Given the description of an element on the screen output the (x, y) to click on. 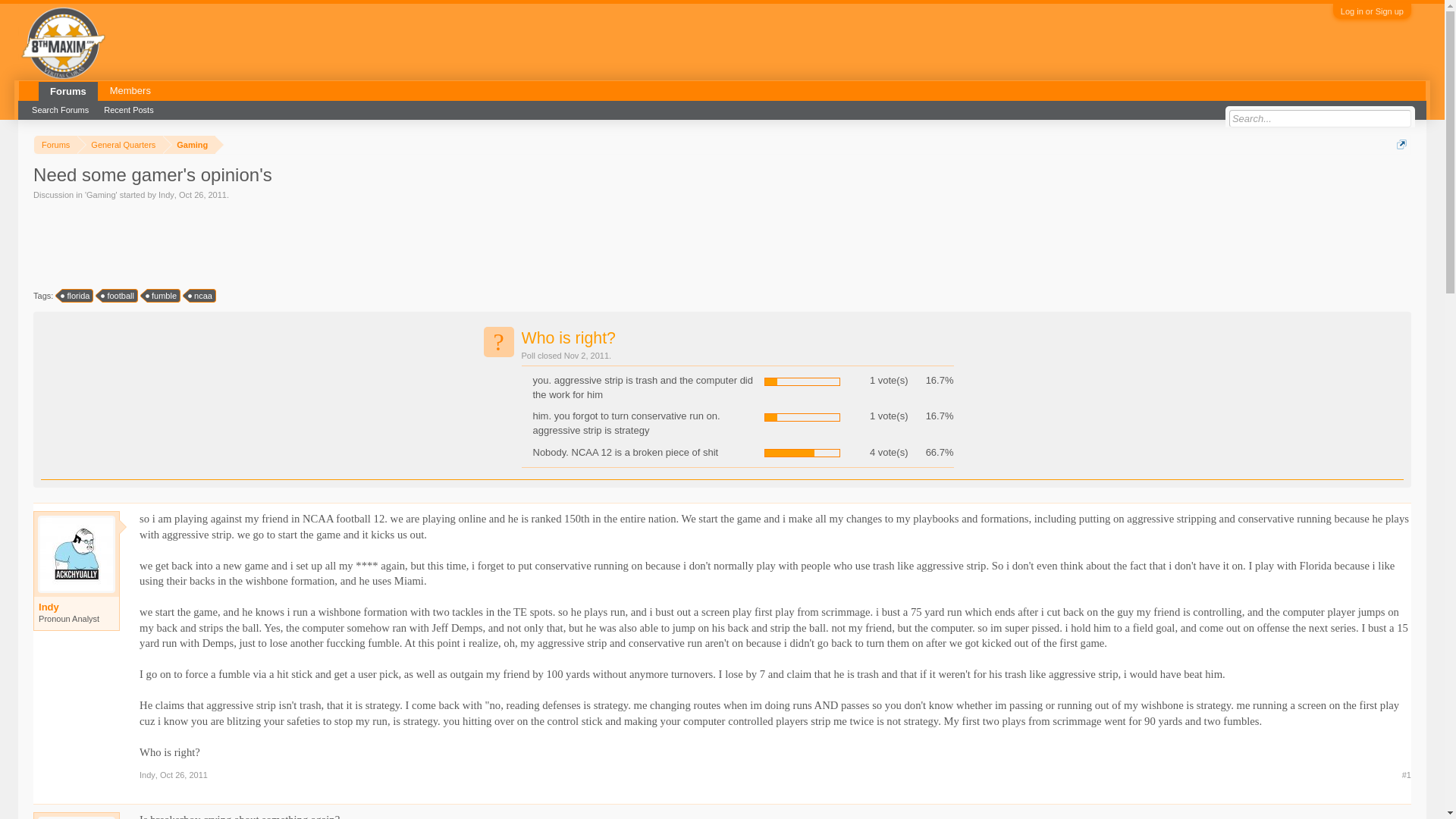
Oct 26, 2011 (203, 194)
Forums (55, 144)
General Quarters (120, 144)
fumble (163, 295)
Open quick navigation (1401, 144)
florida (77, 295)
Permalink (184, 774)
football (118, 295)
Indy (77, 607)
Advertisement (309, 243)
